Given the description of an element on the screen output the (x, y) to click on. 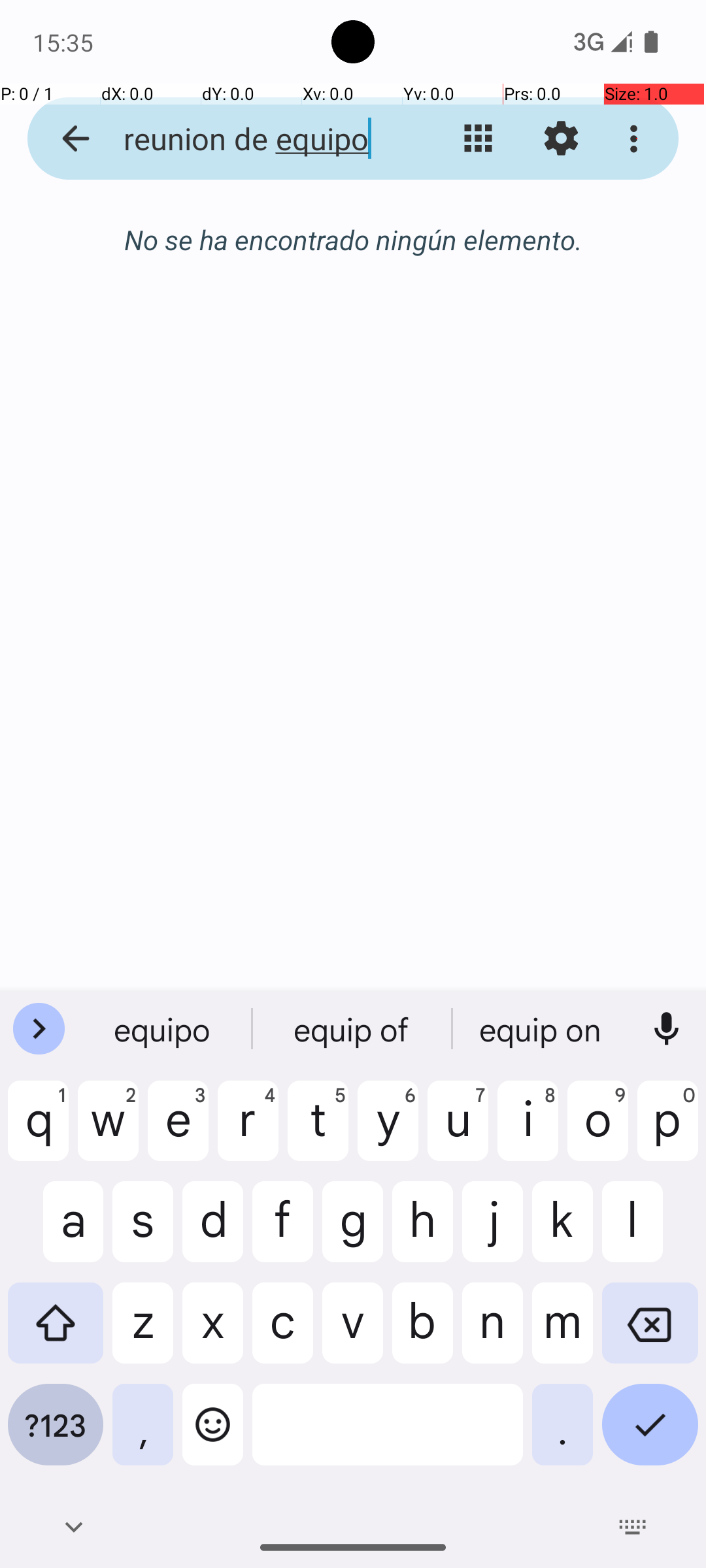
reunion de equipo Element type: android.widget.EditText (252, 138)
No se ha encontrado ningún elemento. Element type: android.widget.TextView (353, 239)
equipo Element type: android.widget.FrameLayout (163, 1028)
equip of Element type: android.widget.FrameLayout (352, 1028)
equip on Element type: android.widget.FrameLayout (541, 1028)
